Given the description of an element on the screen output the (x, y) to click on. 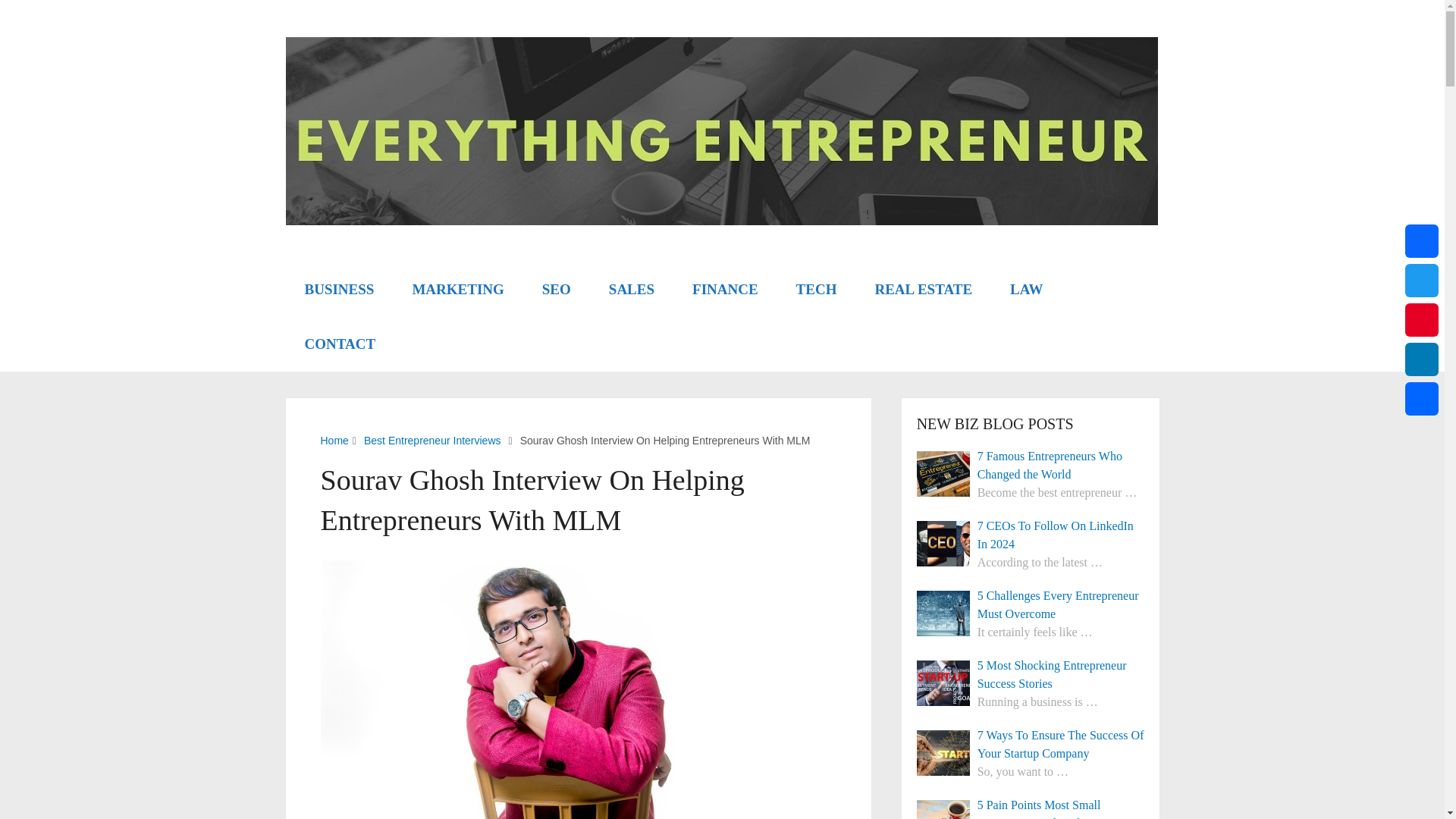
7 CEOs To Follow On LinkedIn In 2024 (943, 543)
TECH (816, 289)
7 Ways To Ensure The Success Of Your Startup Company (1030, 744)
5 Challenges Every Entrepreneur Must Overcome (1030, 605)
Home (333, 440)
LAW (1026, 289)
CONTACT (339, 343)
SALES (630, 289)
5 Pain Points Most Small Businesses Deal With (1030, 807)
7 Famous Entrepreneurs Who Changed the World (943, 473)
